Given the description of an element on the screen output the (x, y) to click on. 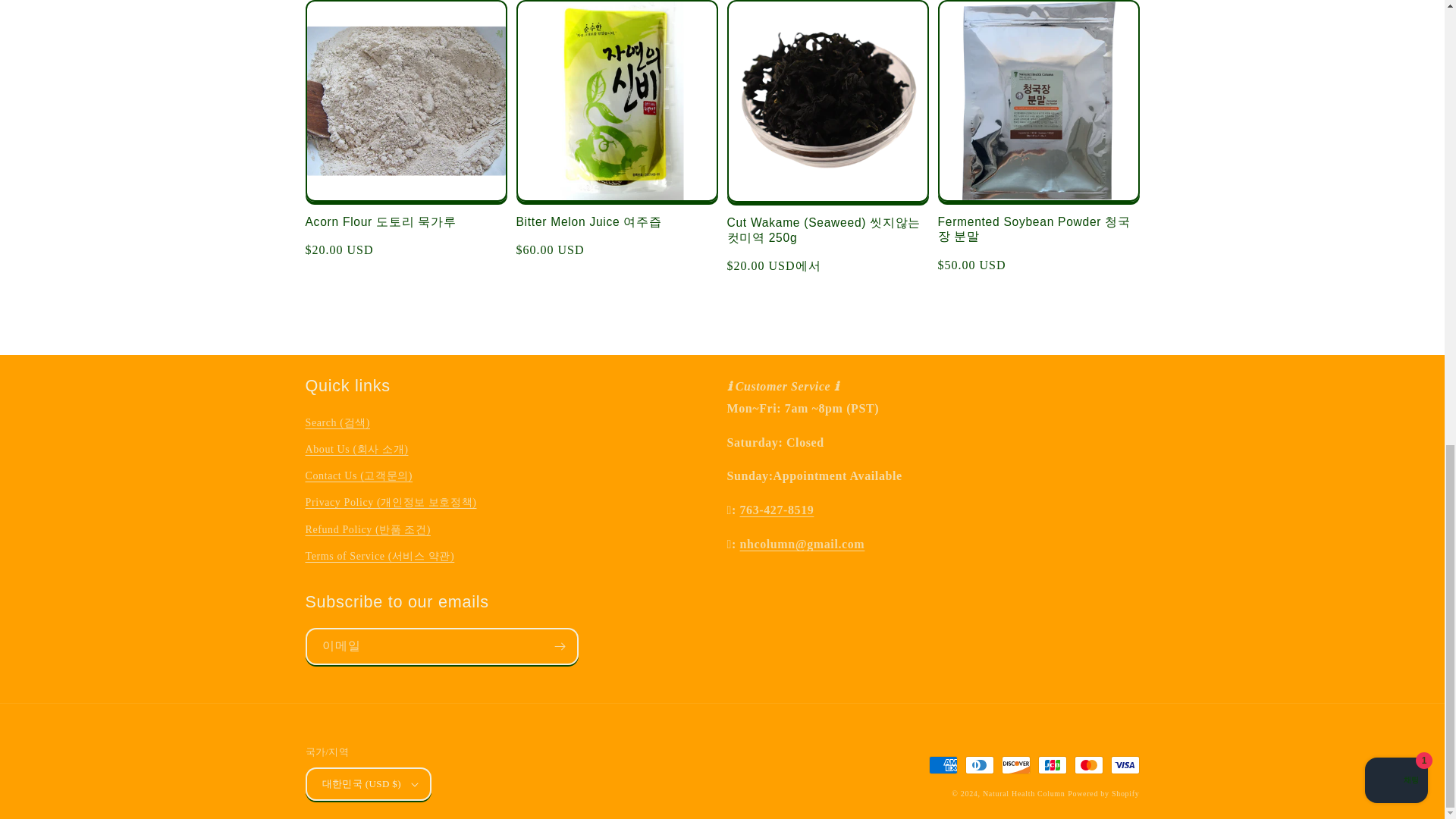
tel:763-427-8519 (776, 509)
